Given the description of an element on the screen output the (x, y) to click on. 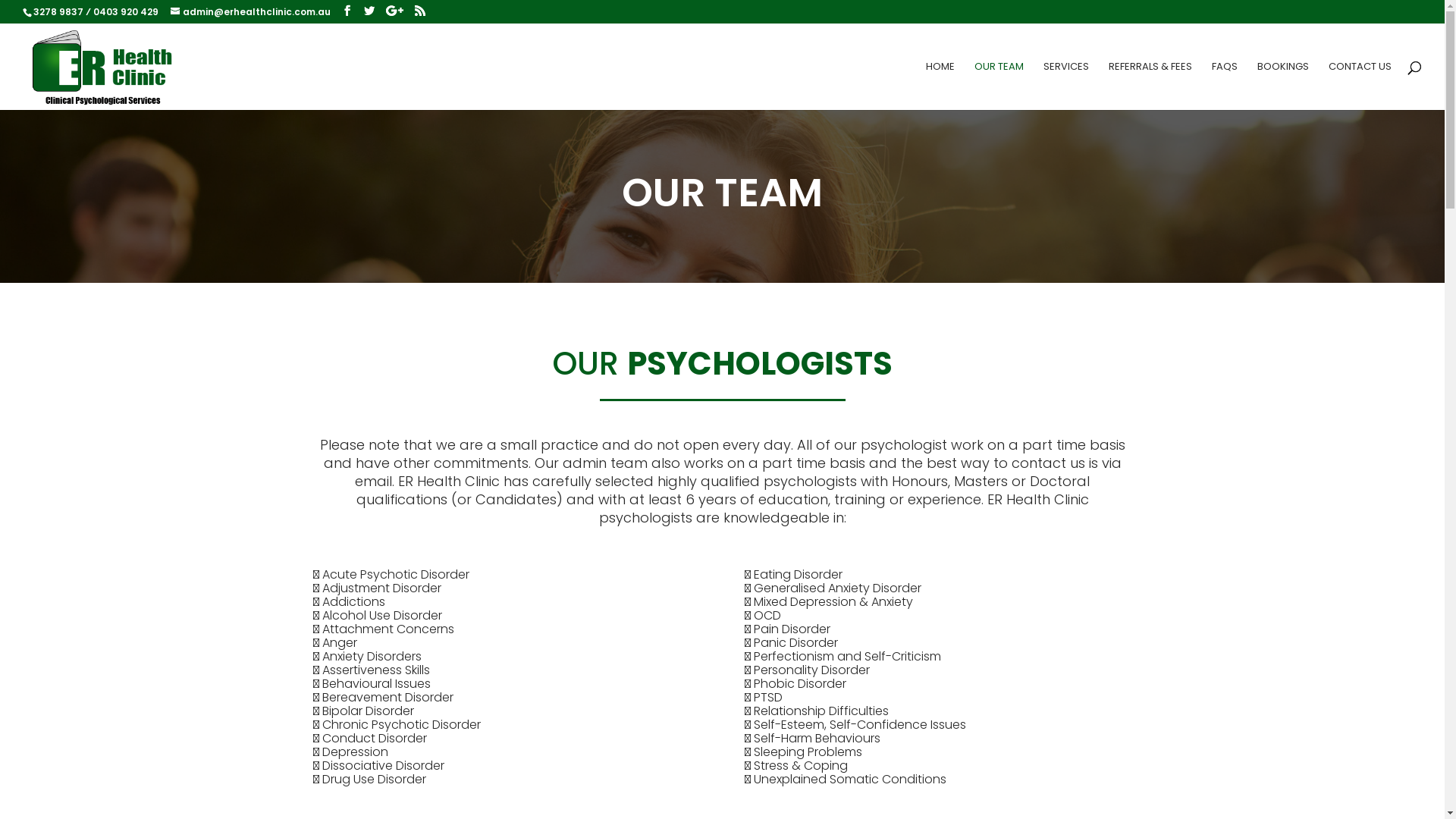
CONTACT US Element type: text (1359, 85)
OUR TEAM Element type: text (998, 85)
admin@erhealthclinic.com.au Element type: text (250, 11)
REFERRALS & FEES Element type: text (1150, 85)
BOOKINGS Element type: text (1282, 85)
SERVICES Element type: text (1065, 85)
HOME Element type: text (939, 85)
FAQS Element type: text (1224, 85)
